Given the description of an element on the screen output the (x, y) to click on. 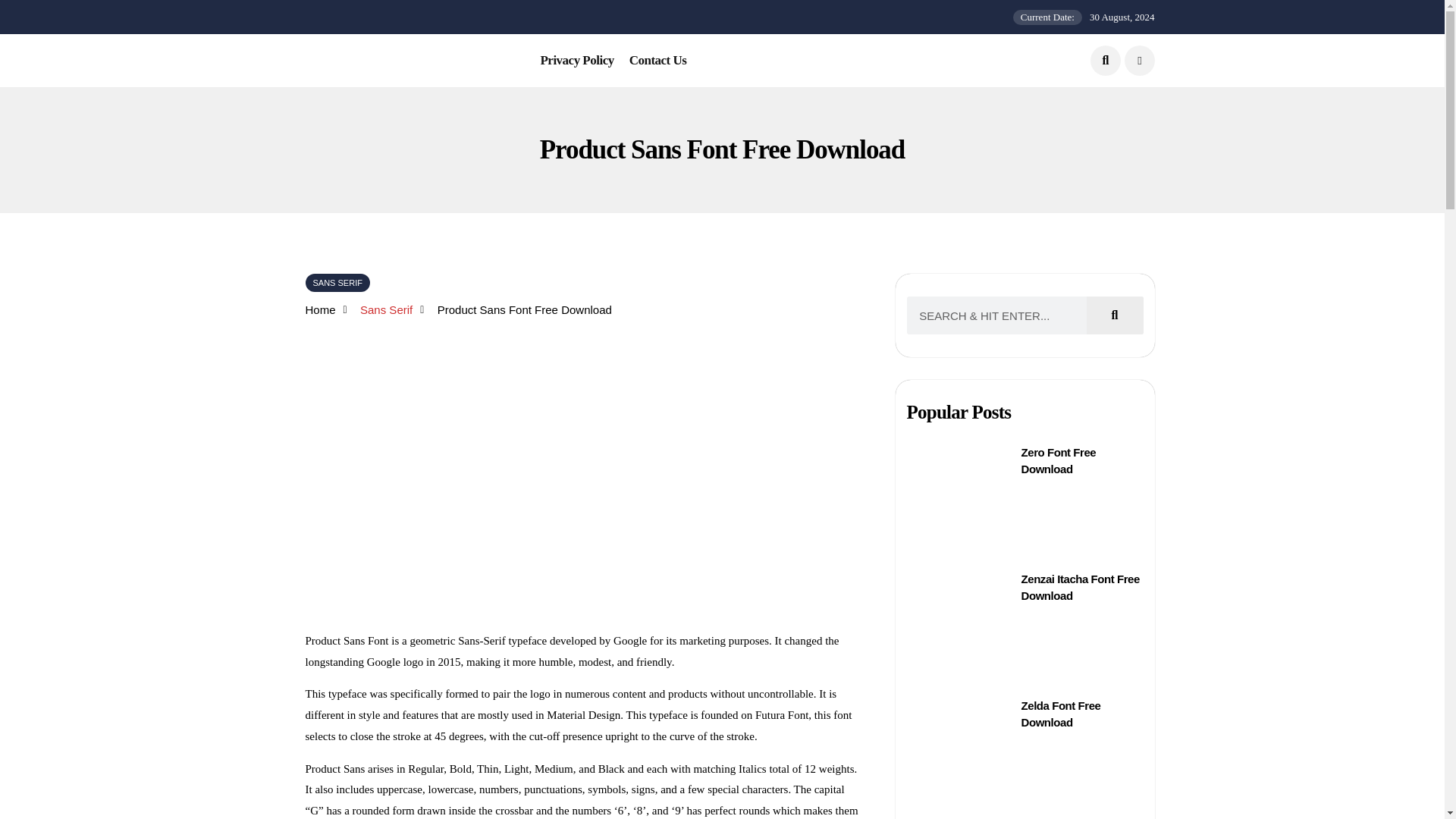
Home (319, 310)
Privacy Policy (576, 60)
Zenzai Itacha Font Free Download (1081, 586)
Sans Serif (385, 309)
Contact Us (657, 60)
Zero Font Free Download (1059, 460)
SANS SERIF (337, 282)
Zelda Font Free Download (1061, 713)
